Given the description of an element on the screen output the (x, y) to click on. 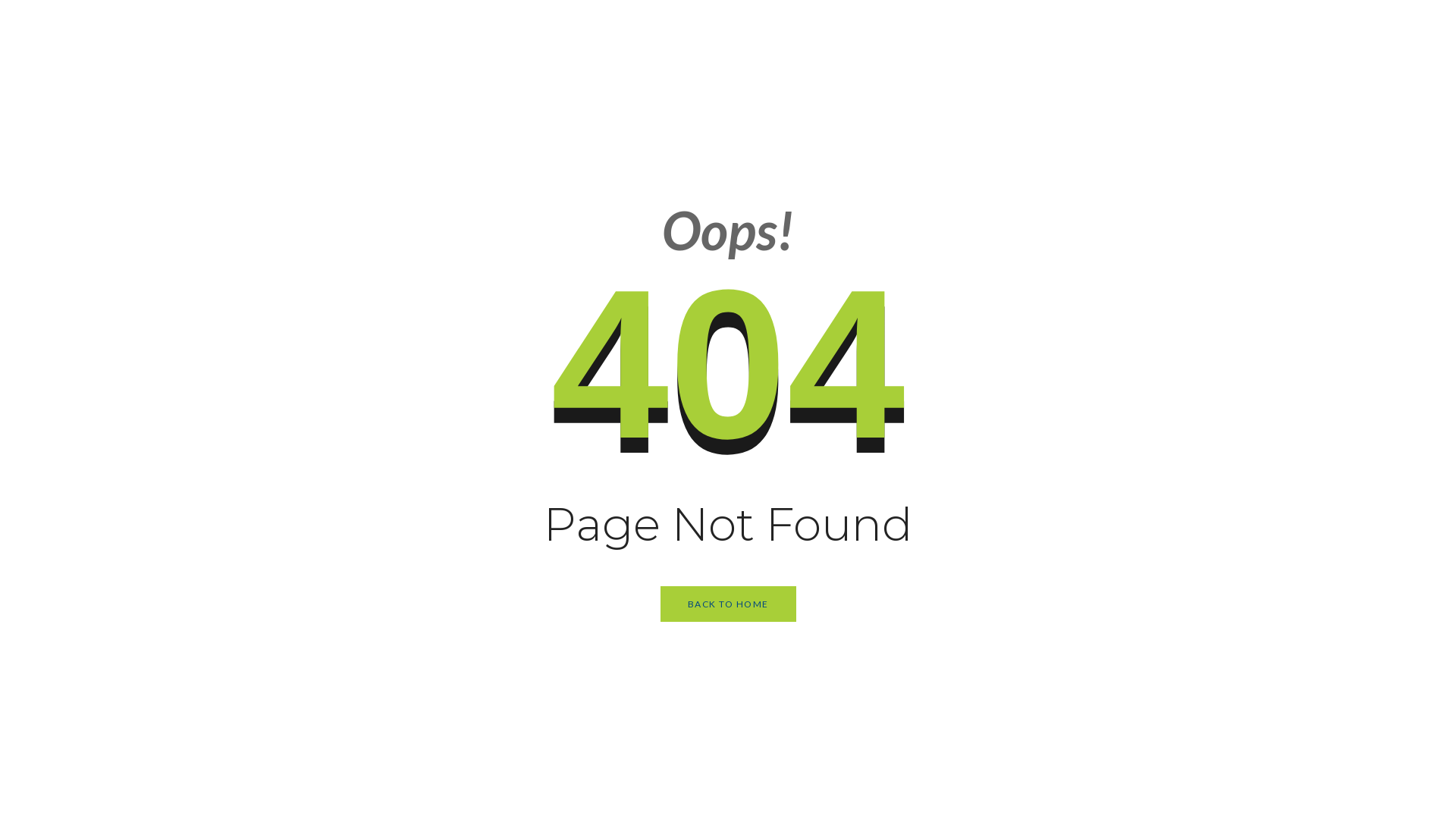
BACK TO HOME Element type: text (727, 603)
